Given the description of an element on the screen output the (x, y) to click on. 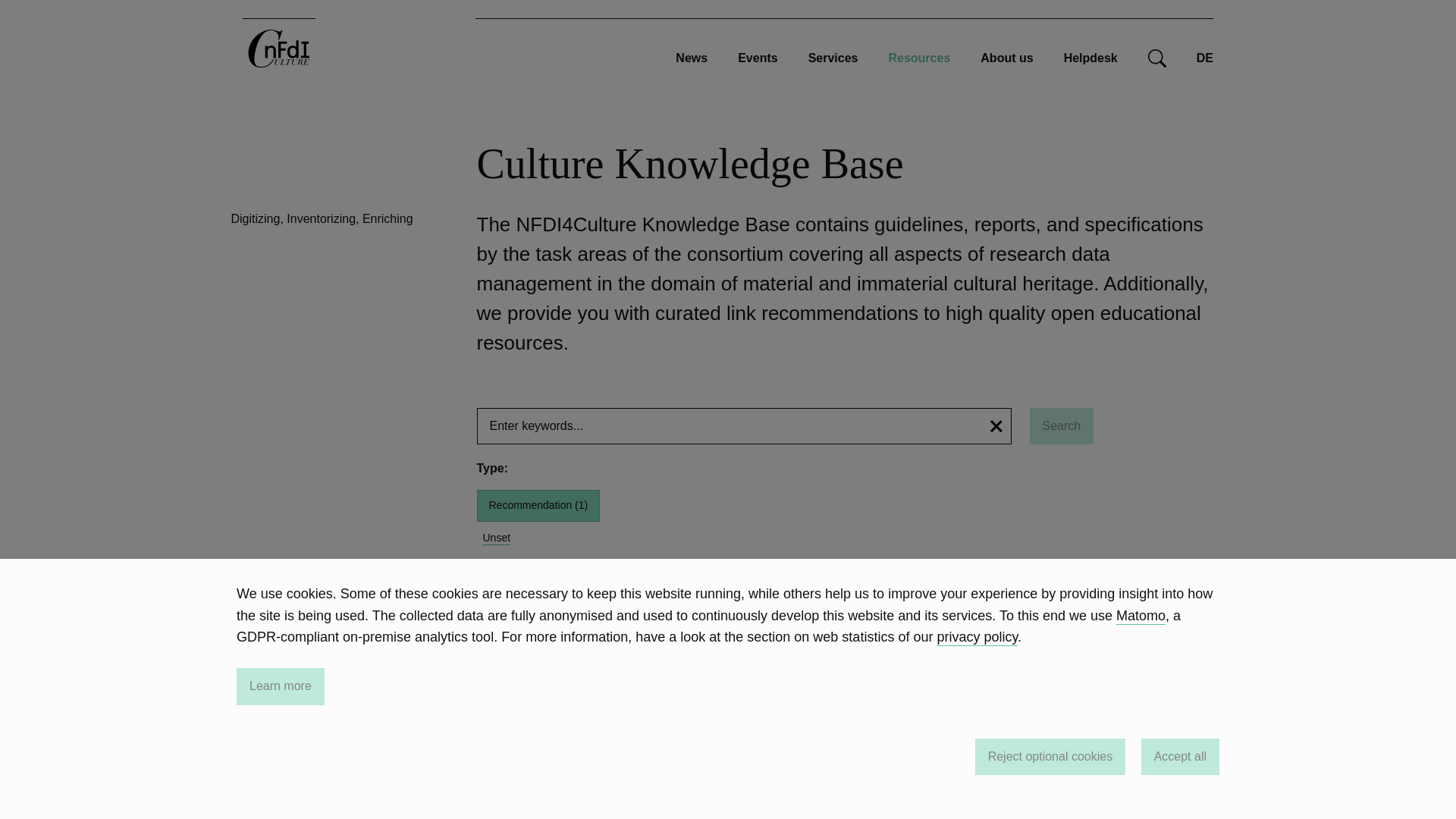
Helpdesk (1091, 57)
Unset (496, 537)
About us (1005, 57)
Search (1061, 425)
News (691, 57)
Events (757, 57)
Services (833, 57)
Events (757, 57)
Digitizing, Inventorizing, Enriching (321, 218)
DE (1204, 57)
News (691, 57)
Resources (919, 57)
Resources (919, 57)
